Given the description of an element on the screen output the (x, y) to click on. 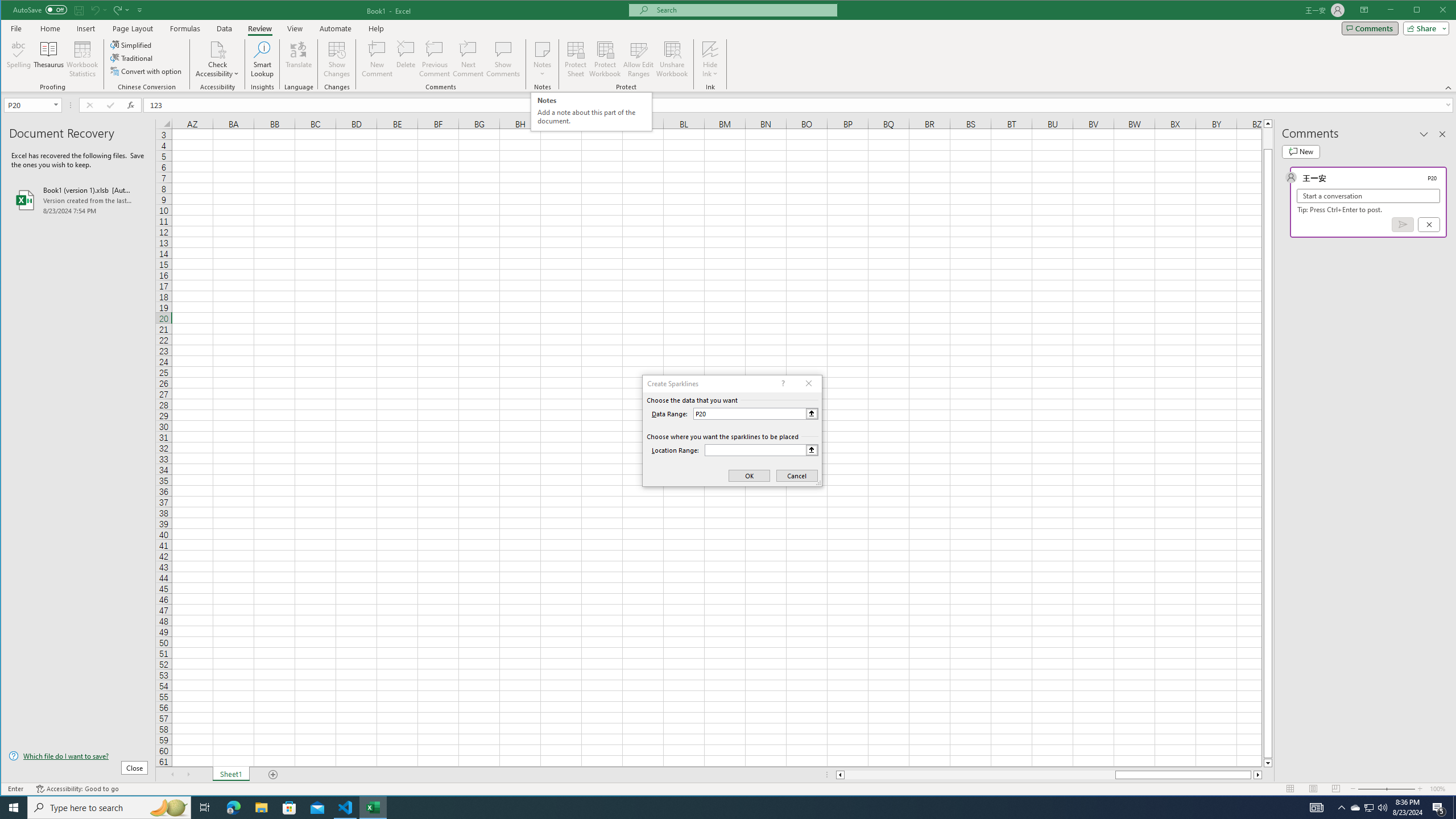
Allow Edit Ranges (638, 59)
Check Accessibility (217, 59)
Thesaurus... (48, 59)
Post comment (Ctrl + Enter) (1402, 224)
Page left (979, 774)
Traditional (132, 57)
